Given the description of an element on the screen output the (x, y) to click on. 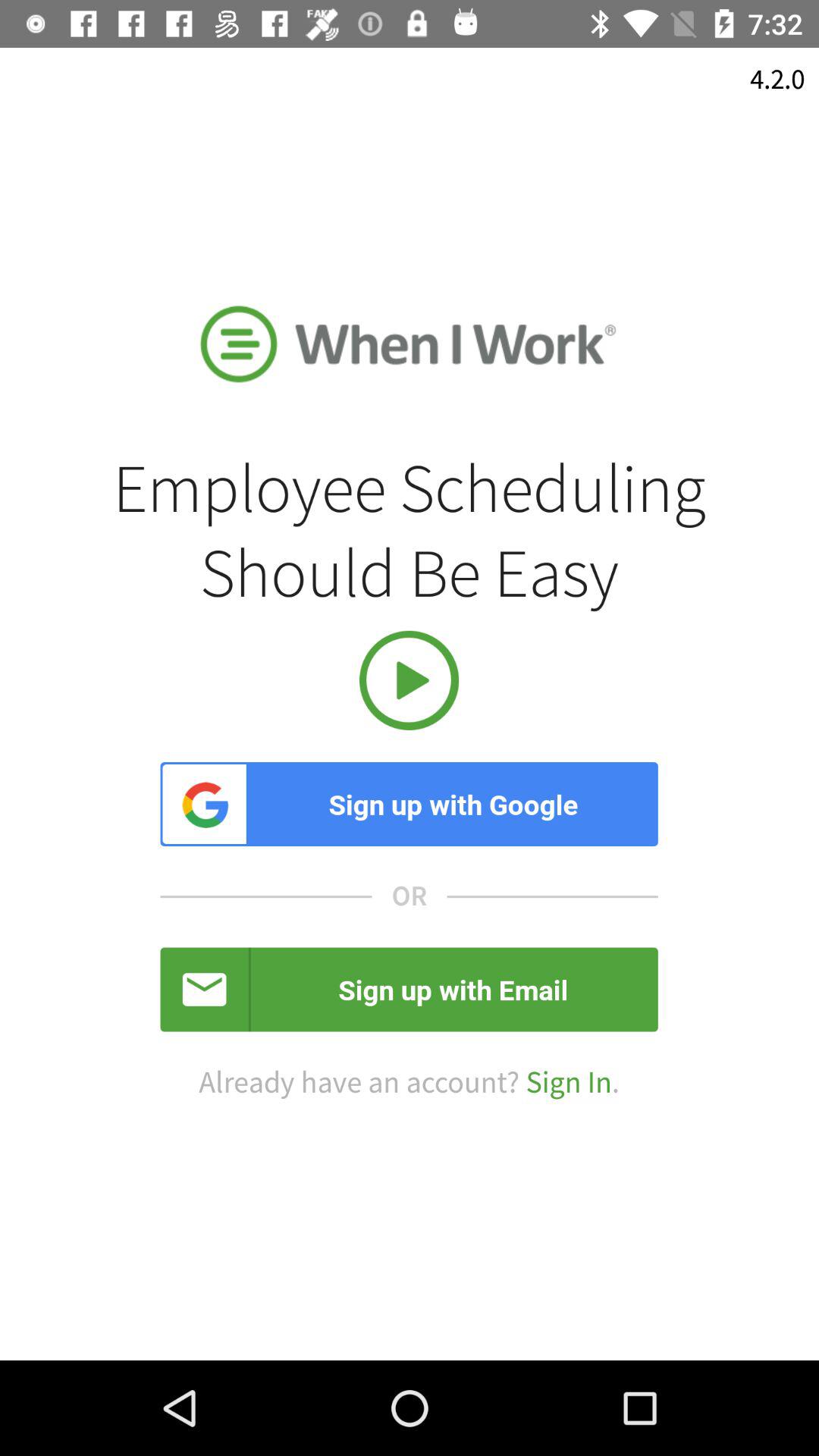
flip until already have an item (409, 1082)
